Given the description of an element on the screen output the (x, y) to click on. 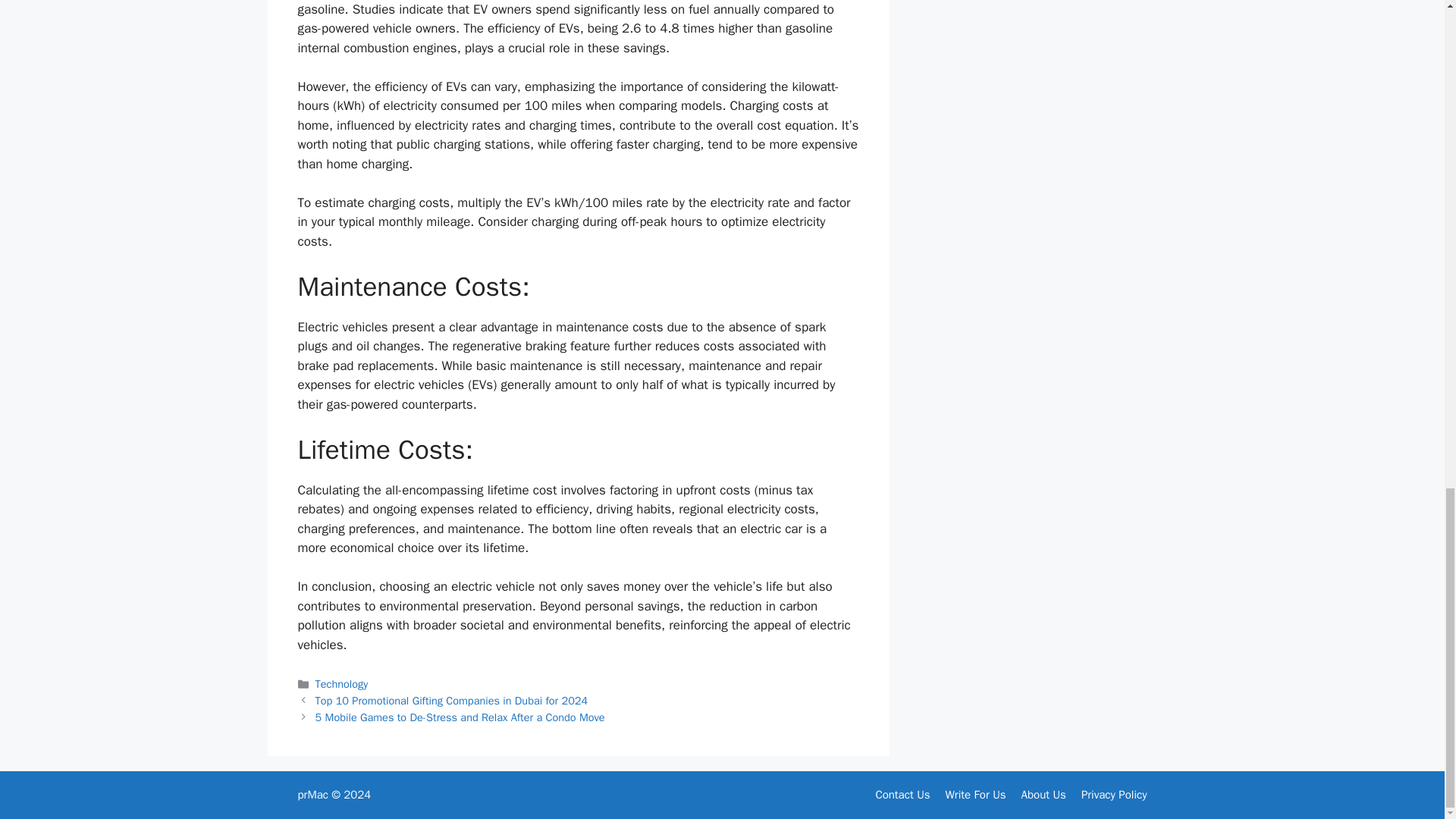
Write For Us (975, 794)
5 Mobile Games to De-Stress and Relax After a Condo Move (460, 716)
Next (460, 716)
Privacy Policy (1114, 794)
Technology (341, 684)
Contact Us (902, 794)
About Us (1043, 794)
Previous (451, 700)
Top 10 Promotional Gifting Companies in Dubai for 2024 (451, 700)
